Given the description of an element on the screen output the (x, y) to click on. 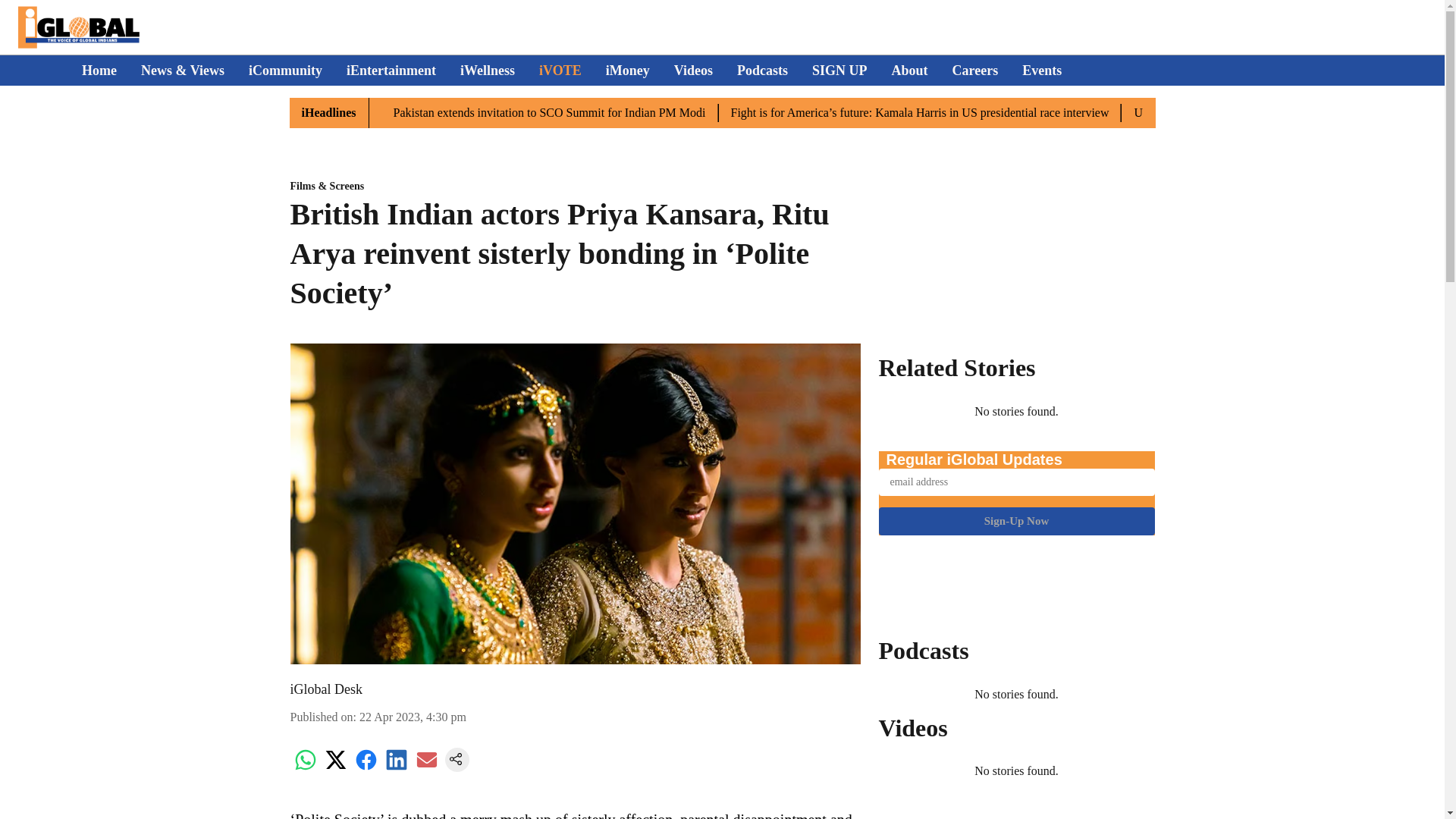
Videos (693, 70)
iVOTE (559, 70)
Podcasts (761, 70)
2023-04-22 08:30 (412, 716)
iCommunity (284, 70)
Sign-Up Now (1015, 520)
Home (98, 70)
iEntertainment (390, 70)
iMoney (627, 70)
iWellness (487, 70)
